Given the description of an element on the screen output the (x, y) to click on. 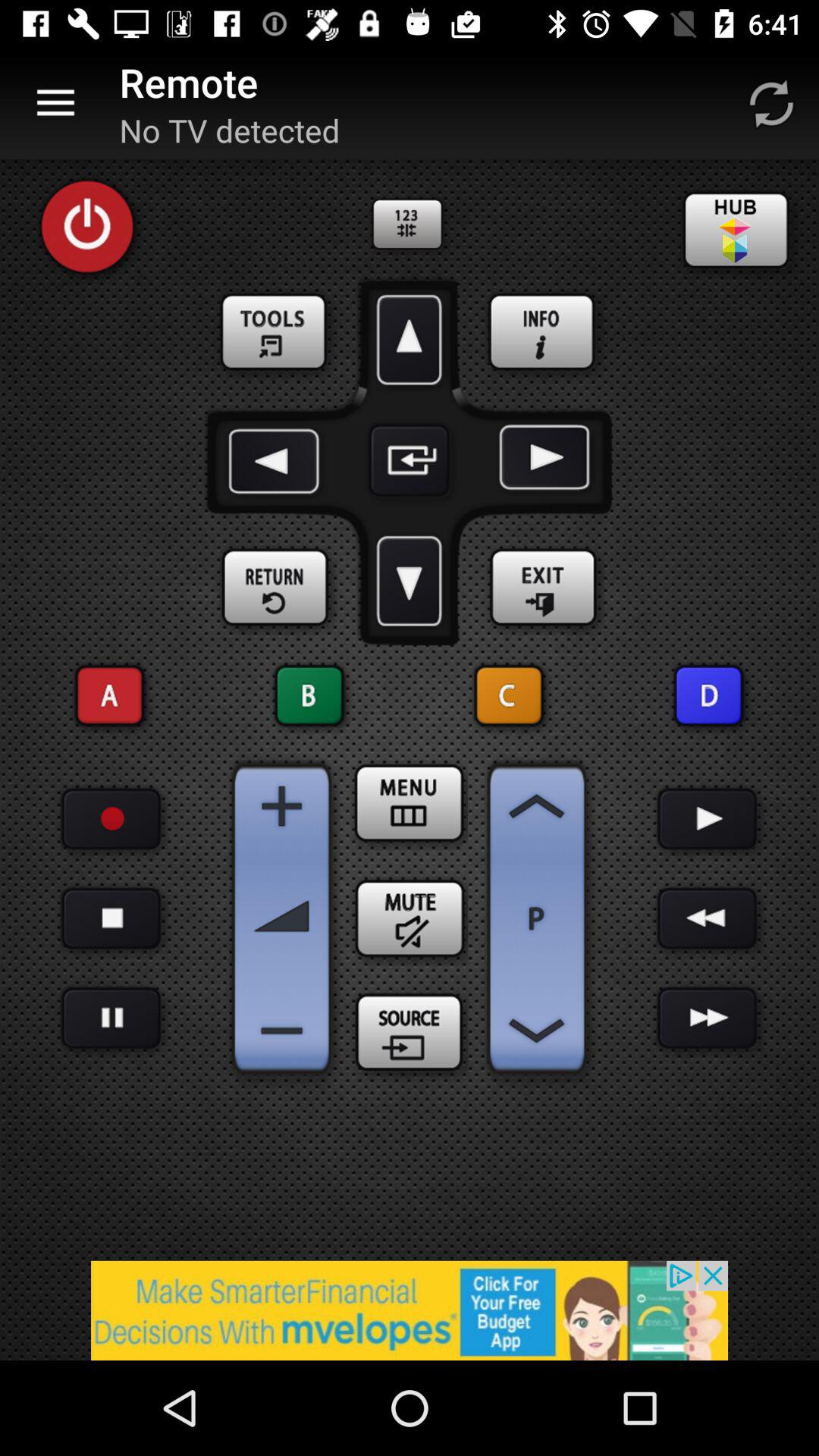
view menu (409, 803)
